Given the description of an element on the screen output the (x, y) to click on. 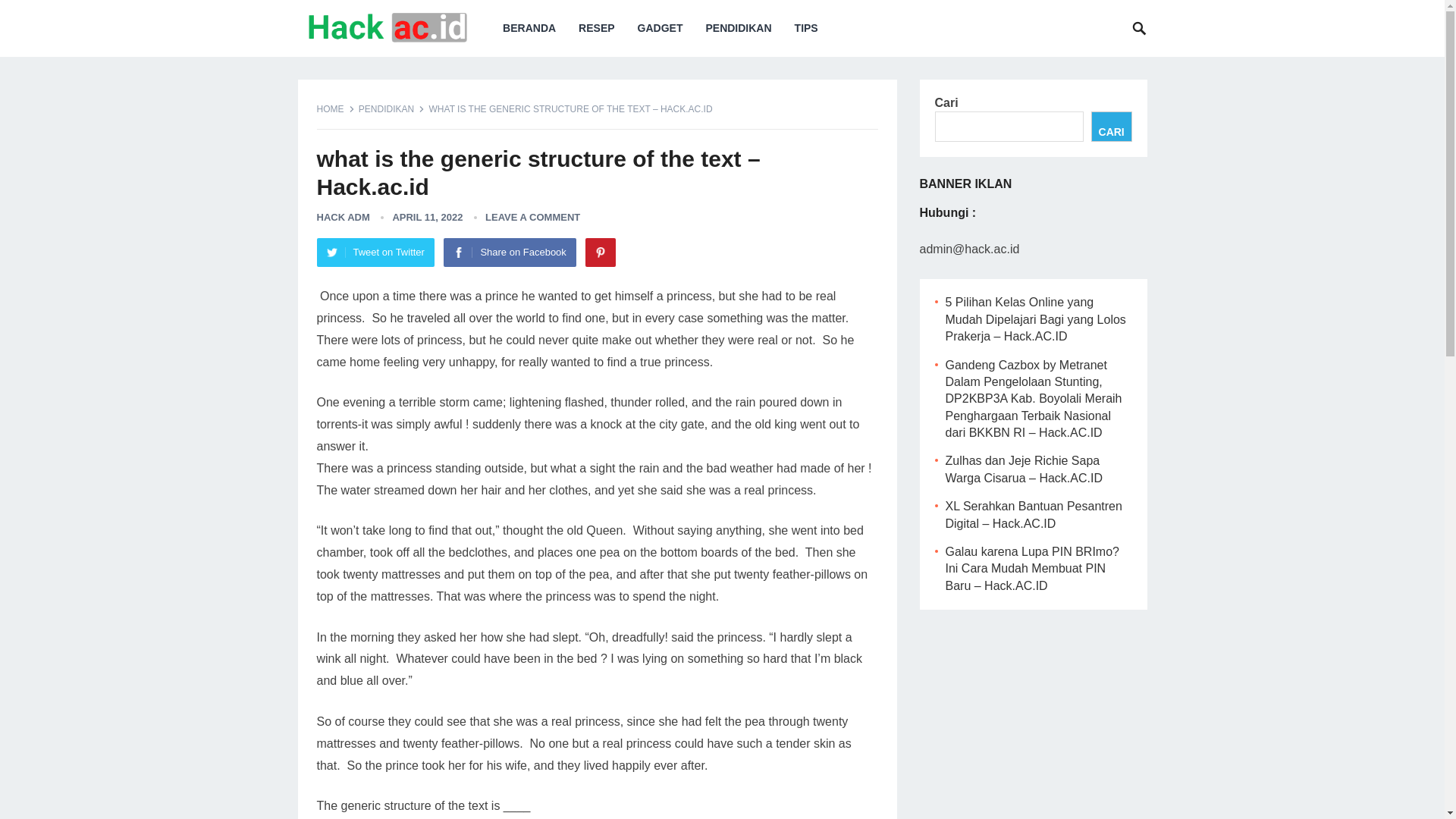
Pinterest (600, 252)
View all posts in Pendidikan (391, 109)
HACK ADM (343, 216)
CARI (1111, 126)
PENDIDIKAN (391, 109)
Tweet on Twitter (375, 252)
BERANDA (529, 28)
RESEP (596, 28)
LEAVE A COMMENT (531, 216)
PENDIDIKAN (738, 28)
HOME (336, 109)
Share on Facebook (509, 252)
Pos-pos oleh Hack Adm (343, 216)
GADGET (660, 28)
